Given the description of an element on the screen output the (x, y) to click on. 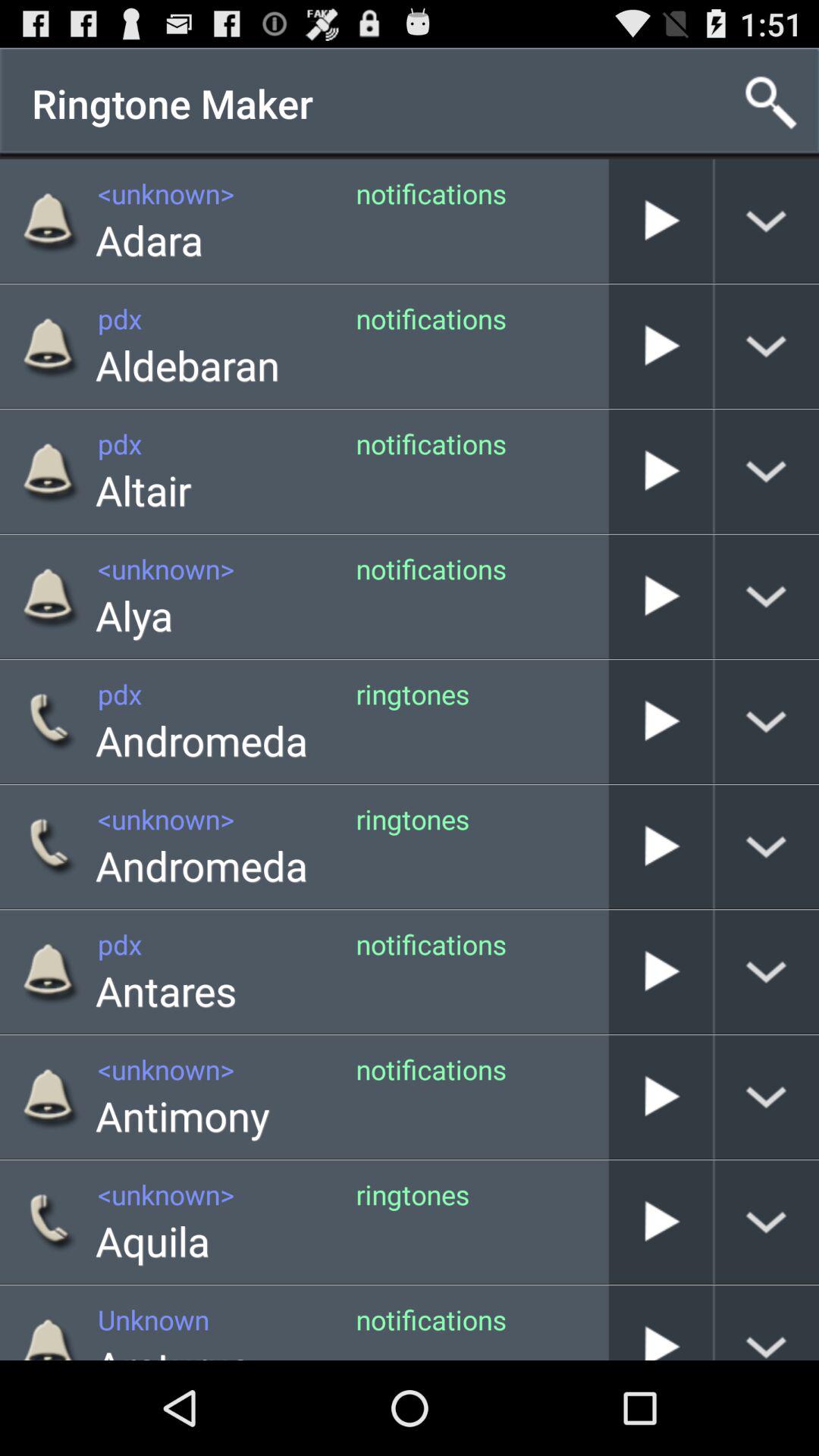
play alya (660, 596)
